Given the description of an element on the screen output the (x, y) to click on. 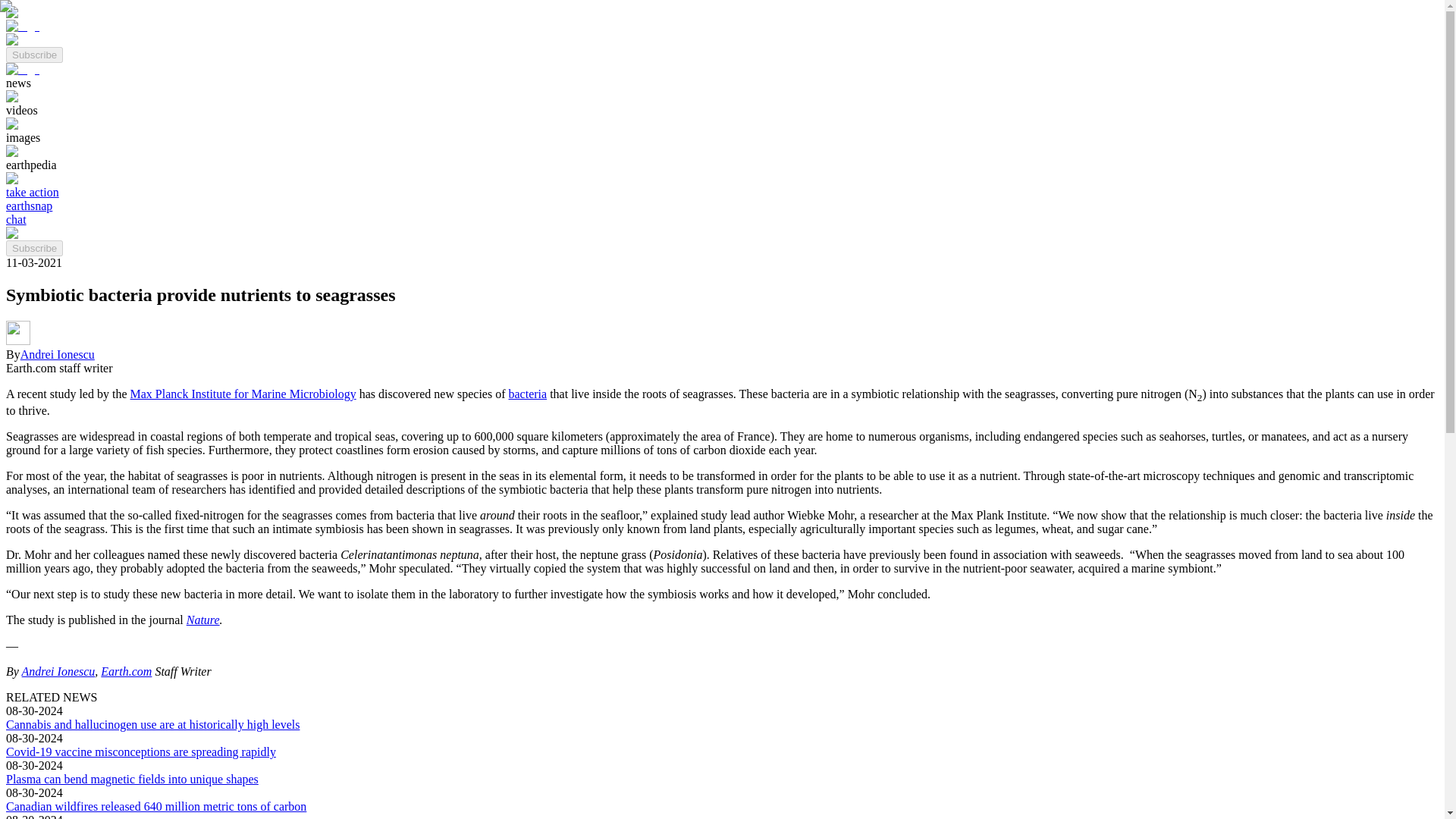
chat (15, 219)
Max Planck Institute for Marine Microbiology (243, 393)
Plasma can bend magnetic fields into unique shapes (132, 779)
Nature (202, 619)
bacteria (527, 393)
earthsnap (28, 205)
Andrei Ionescu (57, 354)
Subscribe (33, 54)
Subscribe (33, 248)
